Given the description of an element on the screen output the (x, y) to click on. 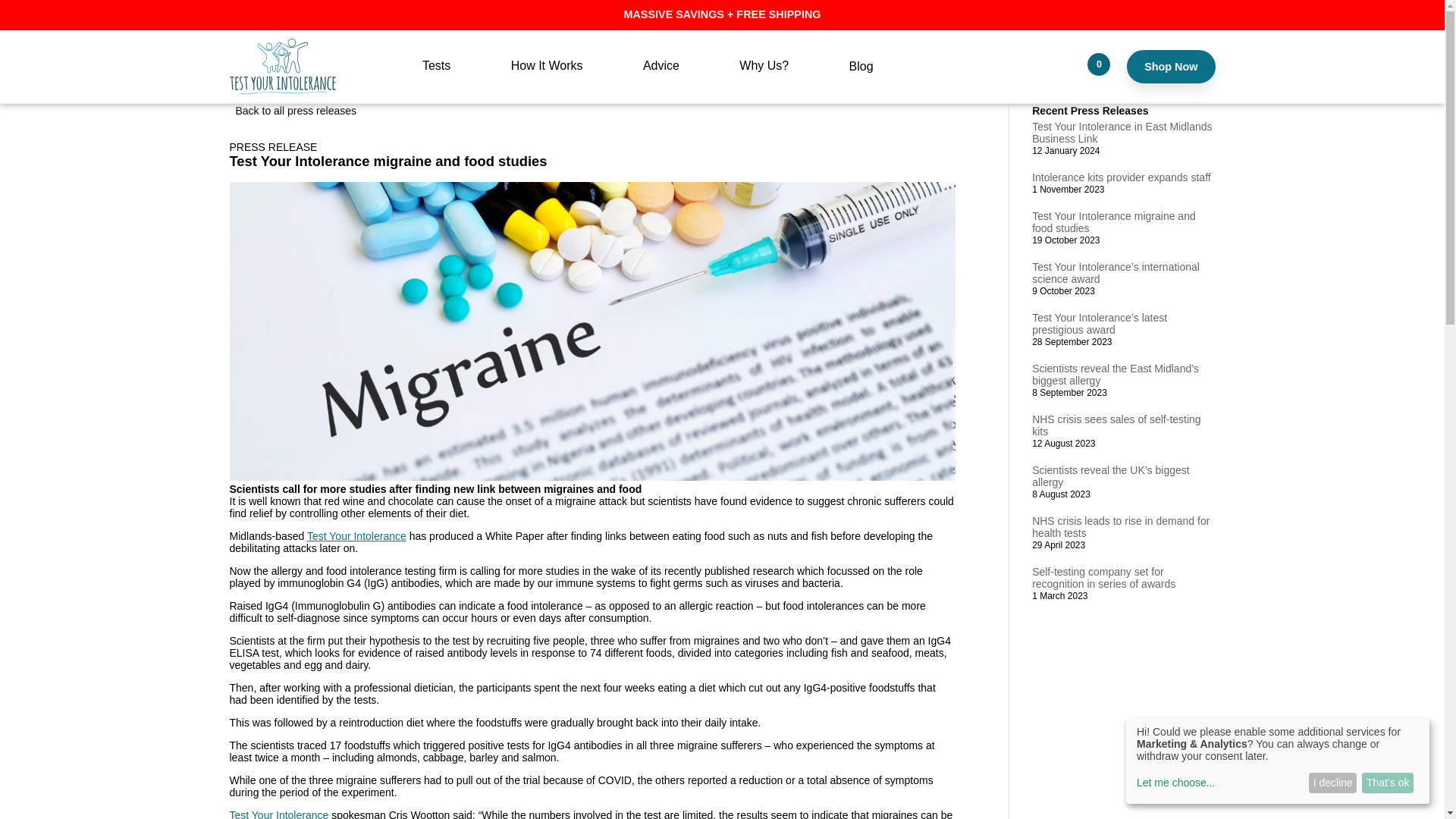
Tests (437, 78)
Intolerance kits provider expands staff (1121, 177)
NHS crisis leads to rise in demand for health tests (1120, 526)
Test Your Intolerance in East Midlands Business Link (1121, 132)
NHS crisis sees sales of self-testing kits (1116, 425)
Self-testing company set for recognition in series of awards (1103, 577)
How It Works (548, 78)
Test Your Intolerance migraine and food studies (1113, 221)
